Given the description of an element on the screen output the (x, y) to click on. 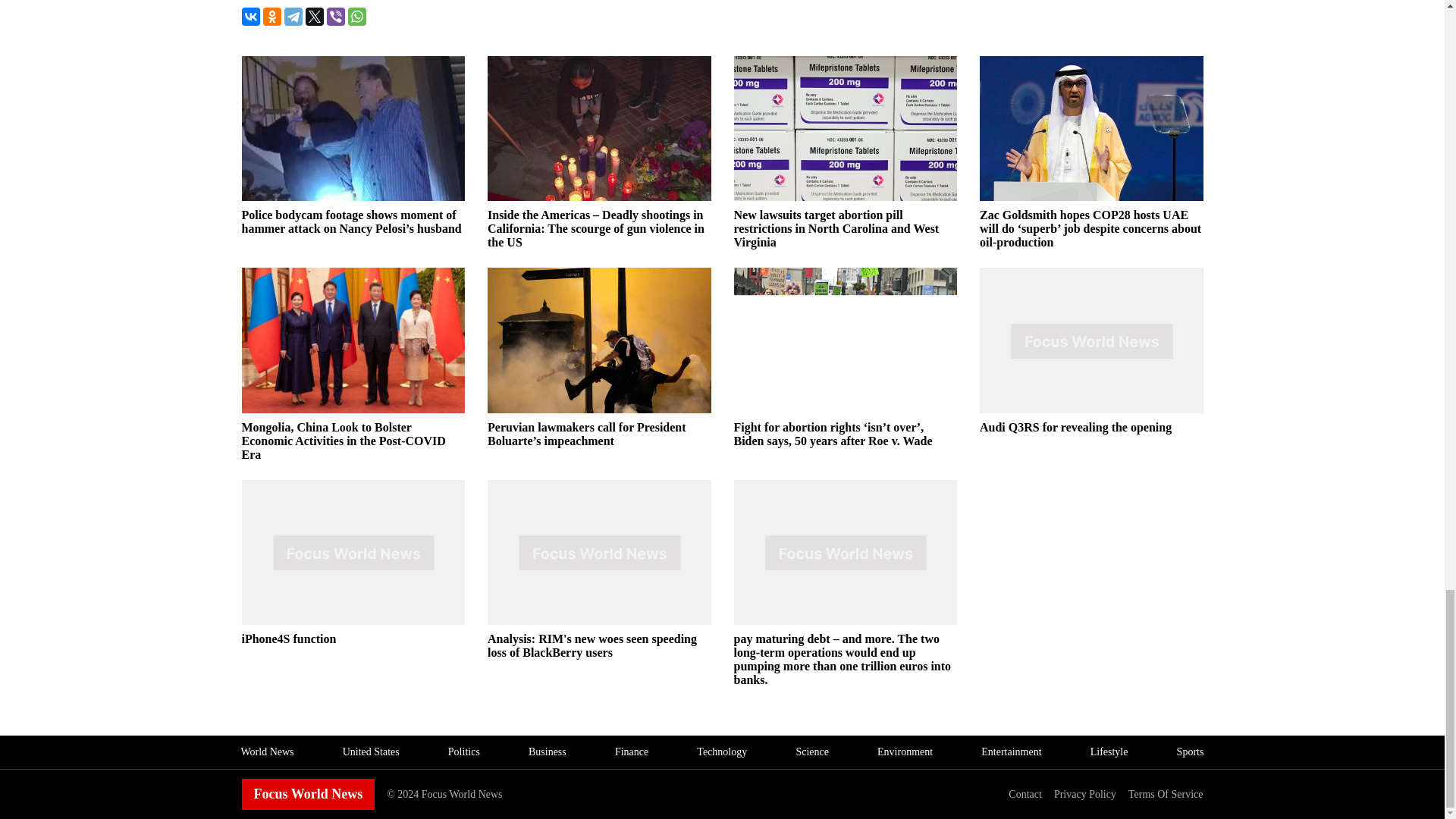
Telegram (292, 16)
Twitter (313, 16)
Viber (334, 16)
WhatsApp (356, 16)
Audi Q3RS for revealing the opening (1091, 427)
iPhone4S function (352, 639)
